Given the description of an element on the screen output the (x, y) to click on. 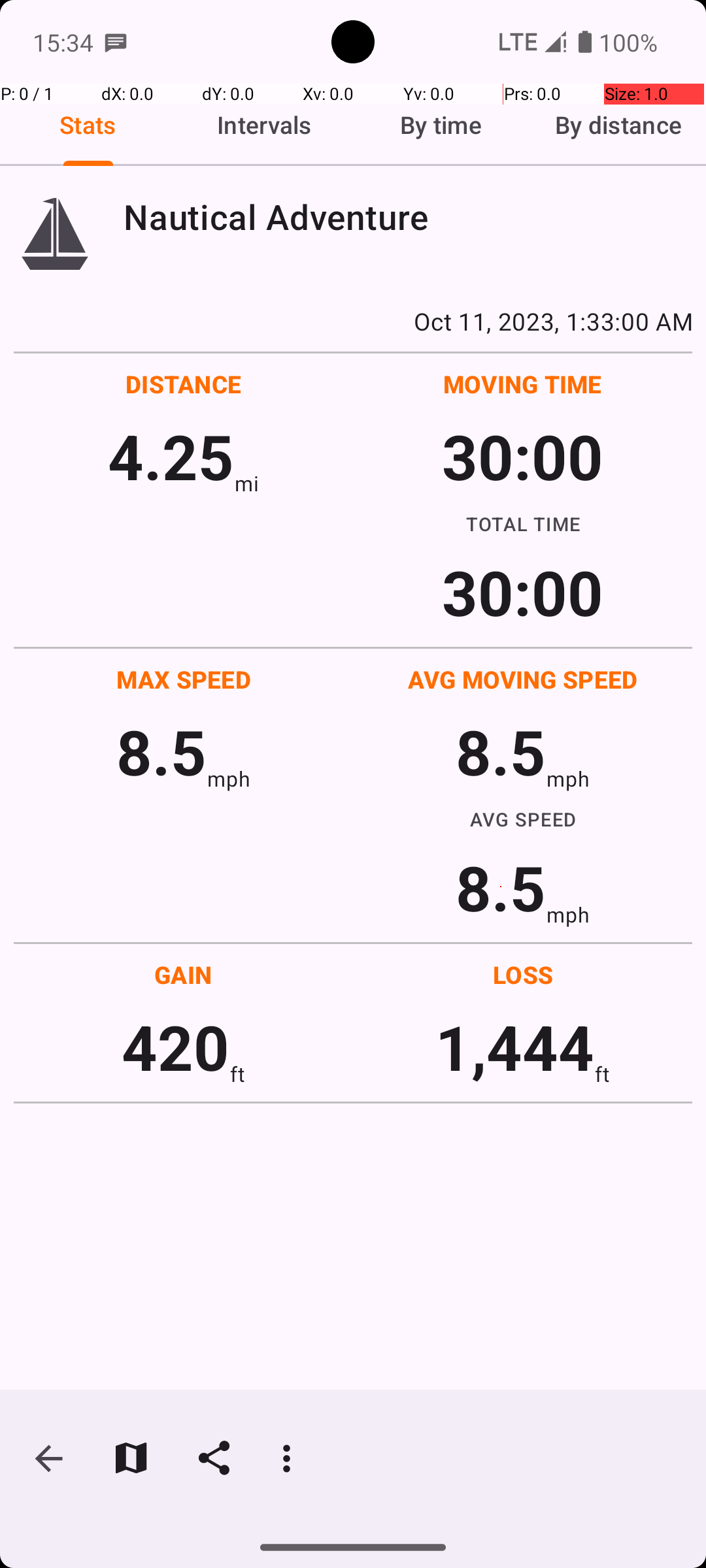
Nautical Adventure Element type: android.widget.TextView (407, 216)
Oct 11, 2023, 1:33:00 AM Element type: android.widget.TextView (352, 320)
4.25 Element type: android.widget.TextView (170, 455)
30:00 Element type: android.widget.TextView (522, 455)
8.5 Element type: android.widget.TextView (161, 750)
420 Element type: android.widget.TextView (175, 1045)
1,444 Element type: android.widget.TextView (514, 1045)
